Given the description of an element on the screen output the (x, y) to click on. 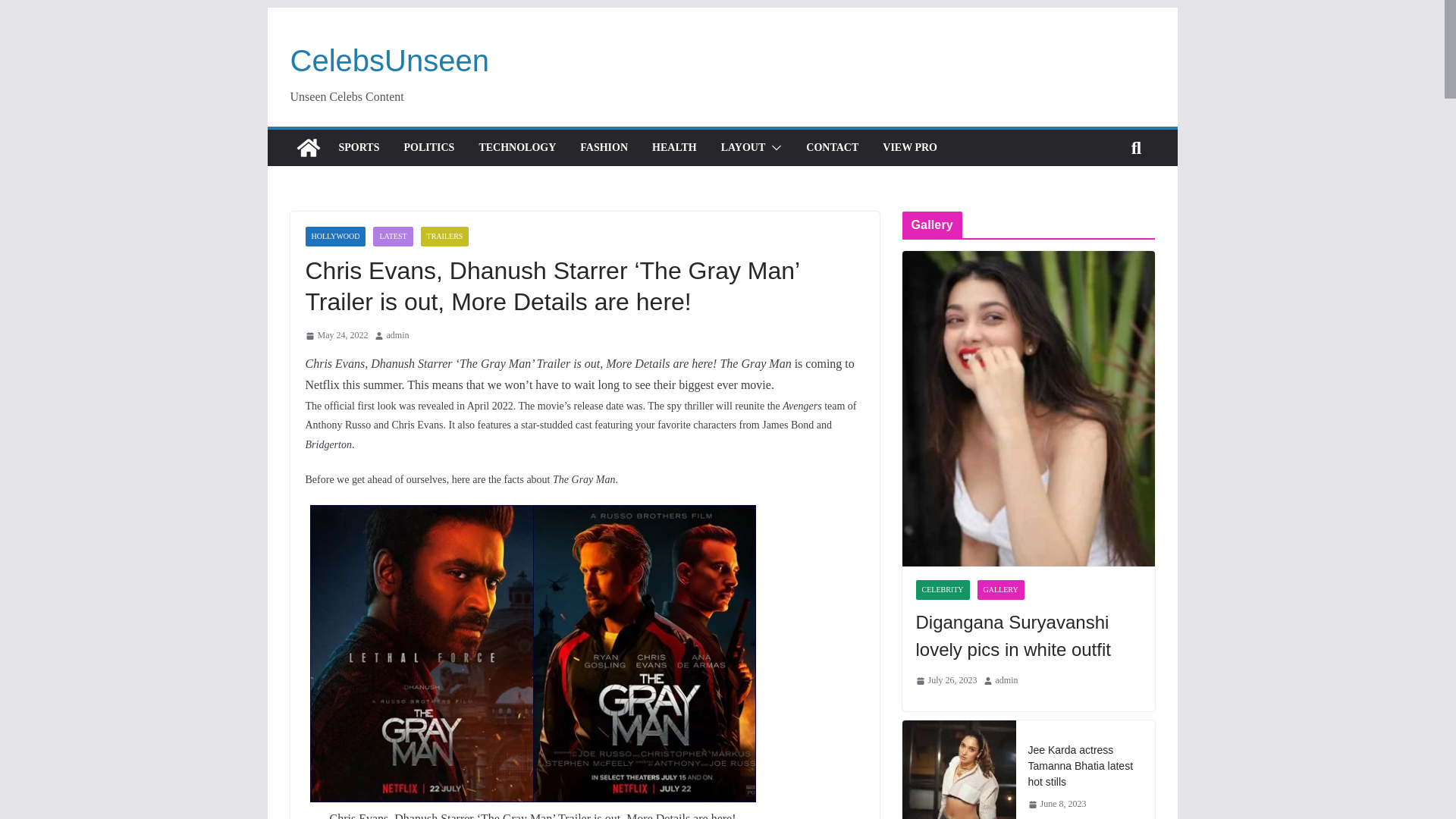
CelebsUnseen (388, 60)
TRAILERS (444, 236)
LAYOUT (742, 147)
May 24, 2022 (336, 335)
9:31 pm (336, 335)
POLITICS (428, 147)
LATEST (392, 236)
admin (398, 335)
TECHNOLOGY (517, 147)
CelebsUnseen (388, 60)
CelebsUnseen (307, 147)
HEALTH (674, 147)
HOLLYWOOD (334, 236)
FASHION (603, 147)
